Given the description of an element on the screen output the (x, y) to click on. 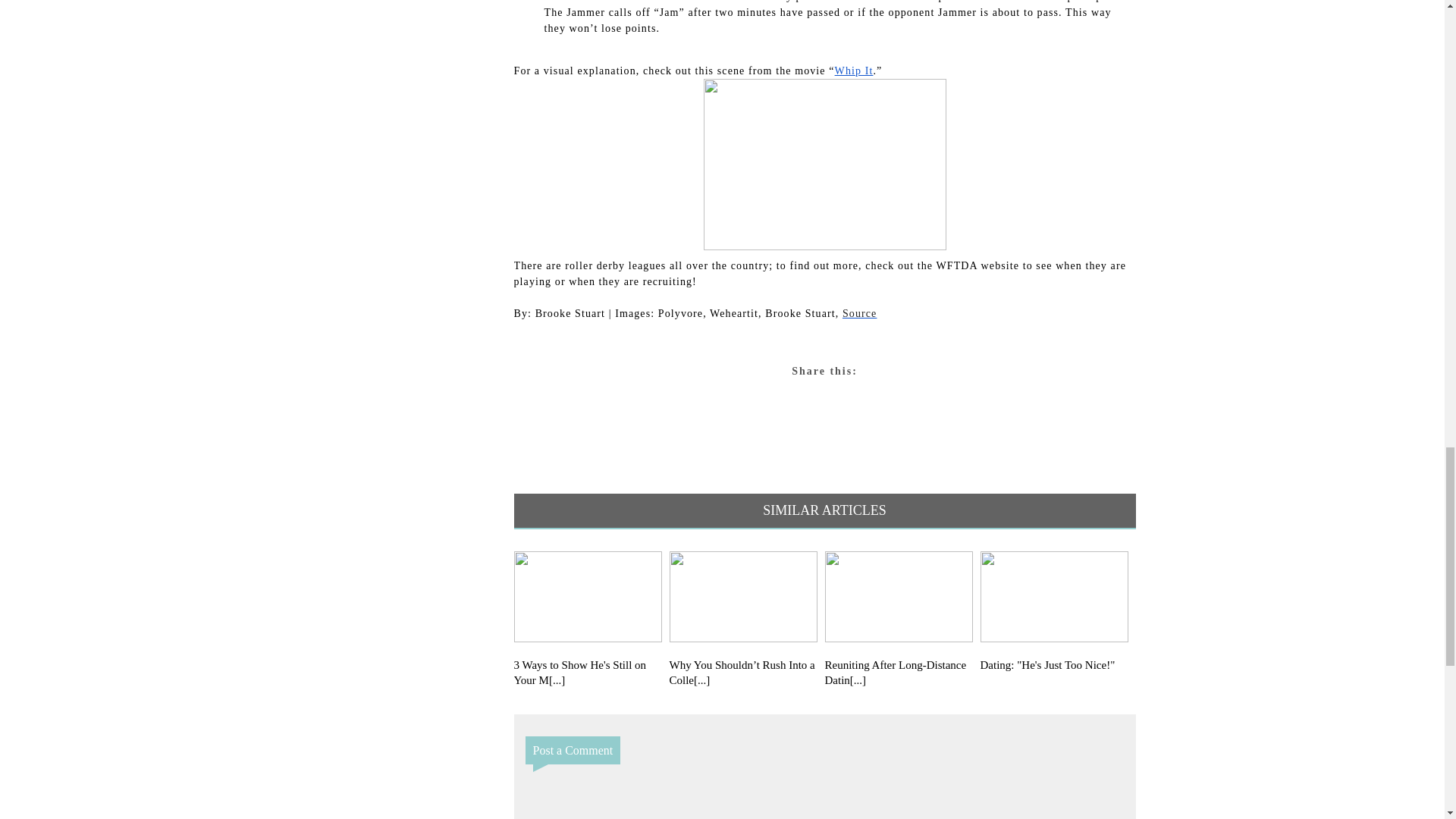
Whip It (853, 70)
Share to Facebook (910, 399)
Share to Twitter (738, 399)
Source (859, 313)
